Given the description of an element on the screen output the (x, y) to click on. 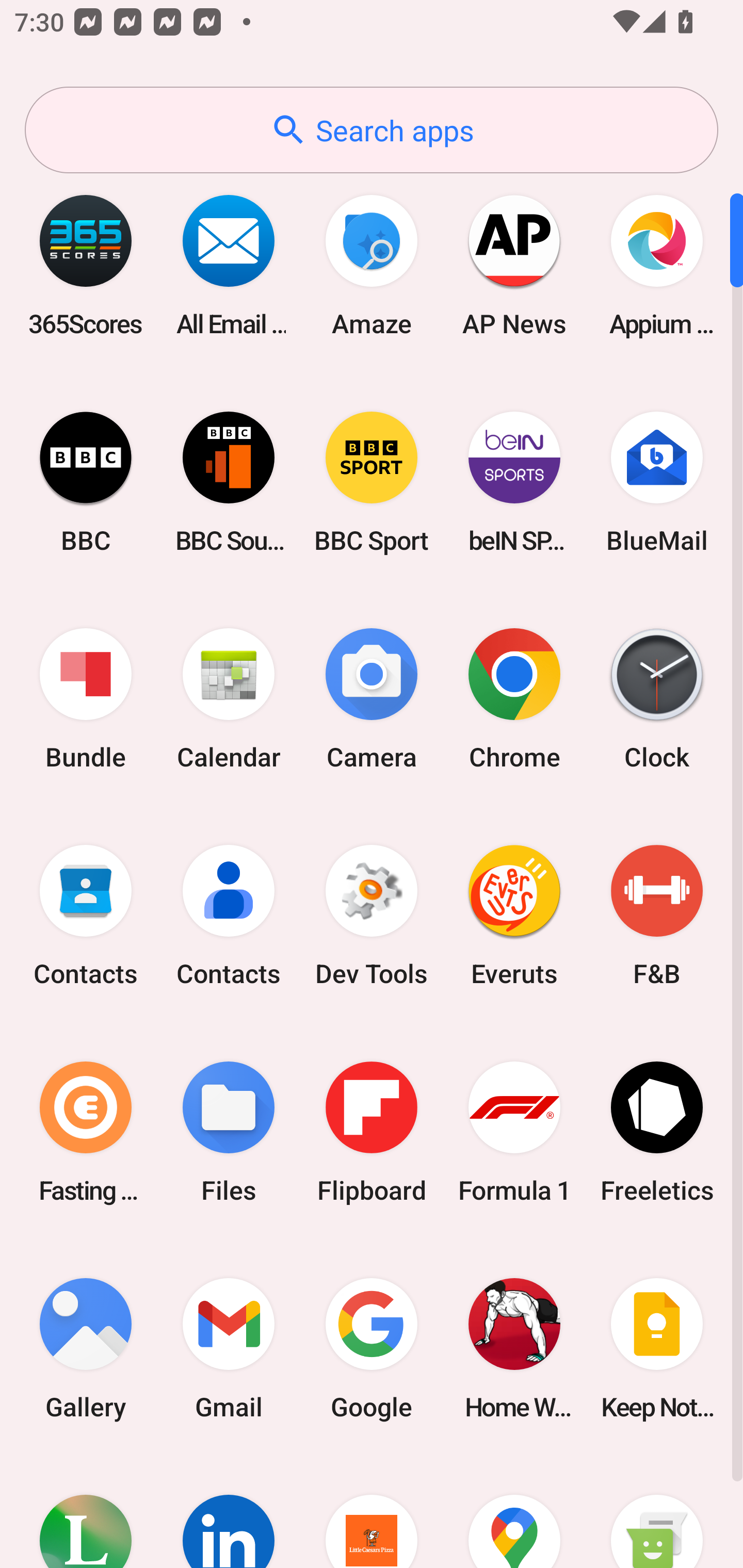
  Search apps (371, 130)
365Scores (85, 264)
All Email Connect (228, 264)
Amaze (371, 264)
AP News (514, 264)
Appium Settings (656, 264)
BBC (85, 482)
BBC Sounds (228, 482)
BBC Sport (371, 482)
beIN SPORTS (514, 482)
BlueMail (656, 482)
Bundle (85, 699)
Calendar (228, 699)
Camera (371, 699)
Chrome (514, 699)
Clock (656, 699)
Contacts (85, 915)
Contacts (228, 915)
Dev Tools (371, 915)
Everuts (514, 915)
F&B (656, 915)
Fasting Coach (85, 1131)
Files (228, 1131)
Flipboard (371, 1131)
Formula 1 (514, 1131)
Freeletics (656, 1131)
Gallery (85, 1348)
Gmail (228, 1348)
Google (371, 1348)
Home Workout (514, 1348)
Keep Notes (656, 1348)
Lifesum (85, 1512)
LinkedIn (228, 1512)
Little Caesars Pizza (371, 1512)
Maps (514, 1512)
Messaging (656, 1512)
